Given the description of an element on the screen output the (x, y) to click on. 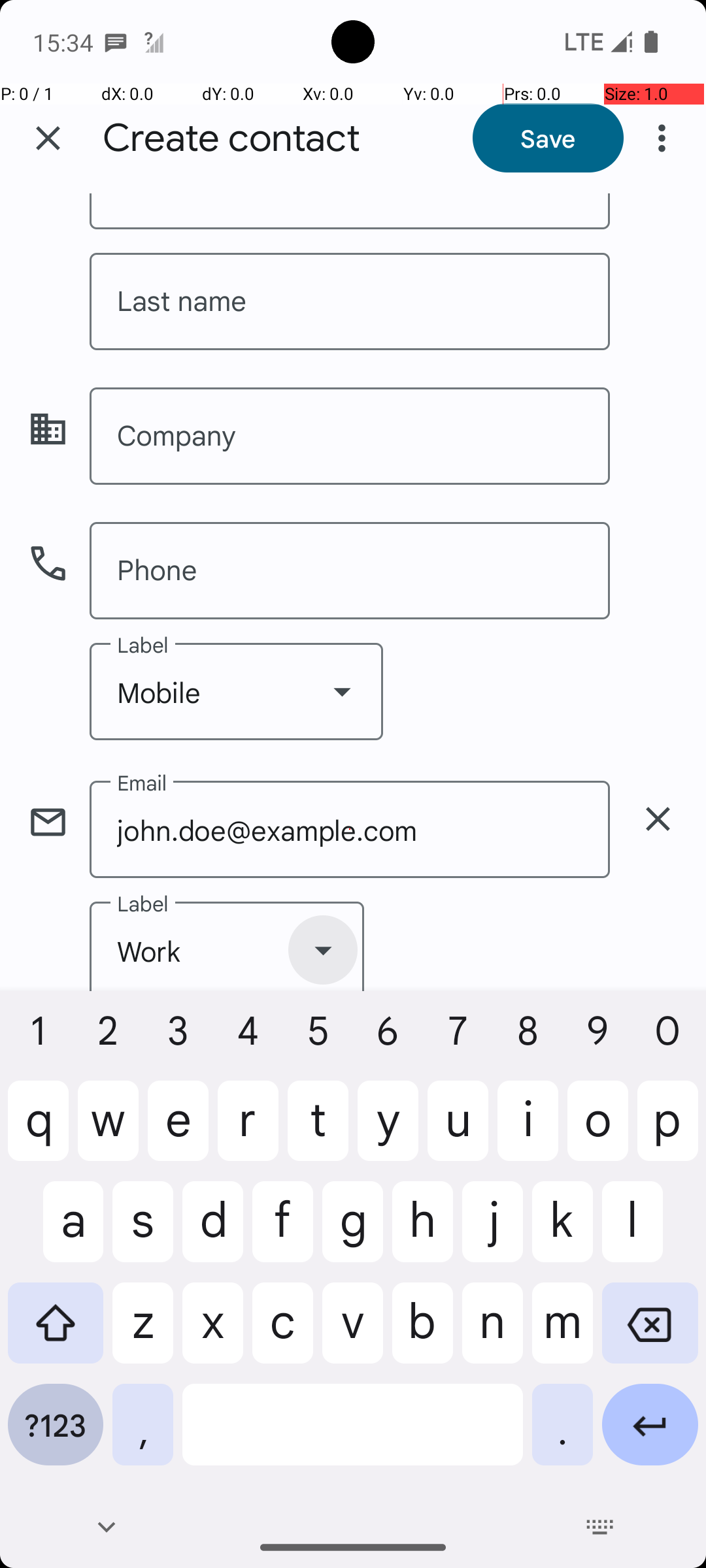
john.doe@example.com Element type: android.widget.EditText (349, 829)
Delete Work Email Element type: android.widget.FrameLayout (657, 818)
delete Element type: android.widget.ImageView (657, 818)
